Given the description of an element on the screen output the (x, y) to click on. 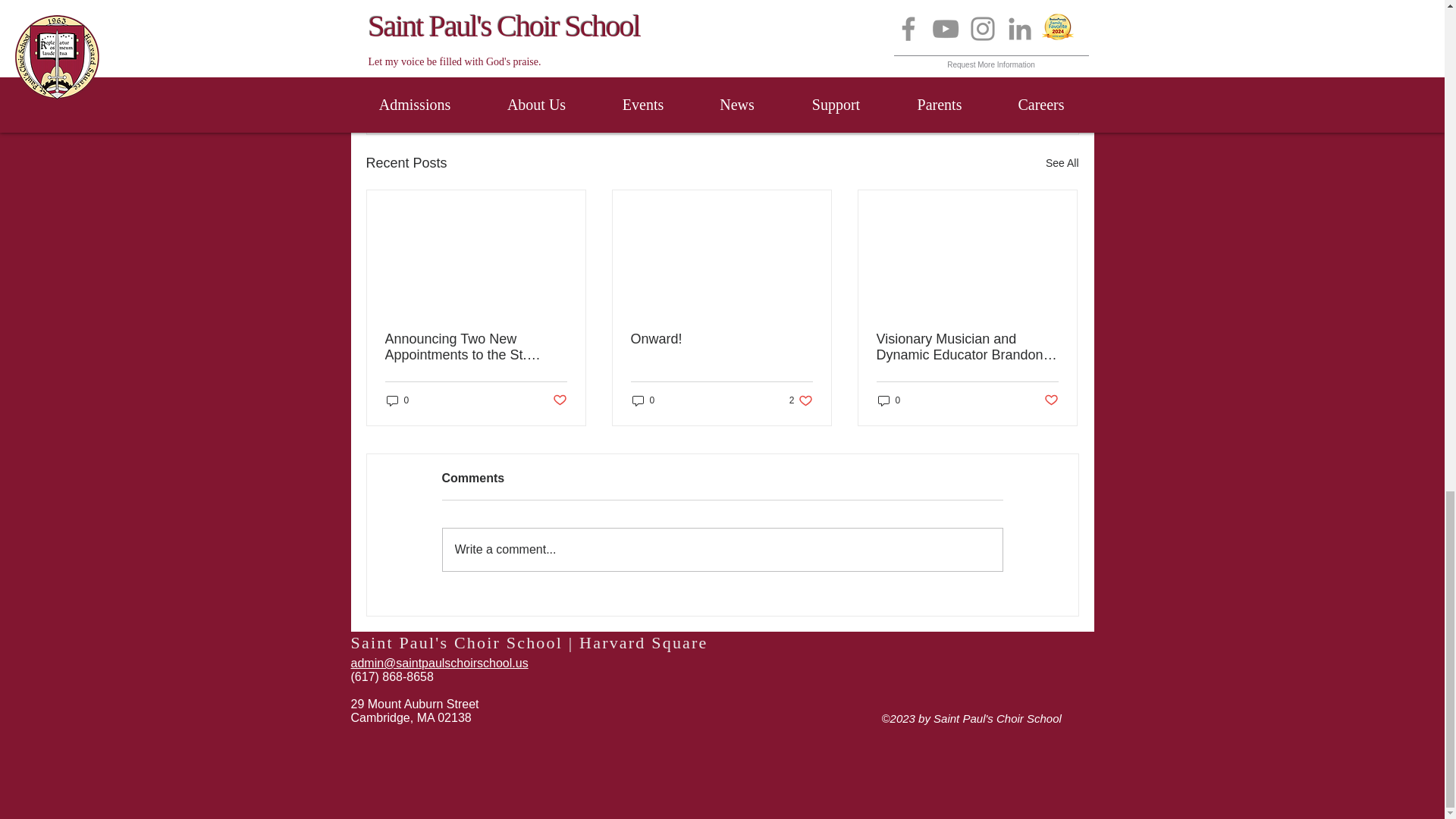
See All (990, 80)
